Given the description of an element on the screen output the (x, y) to click on. 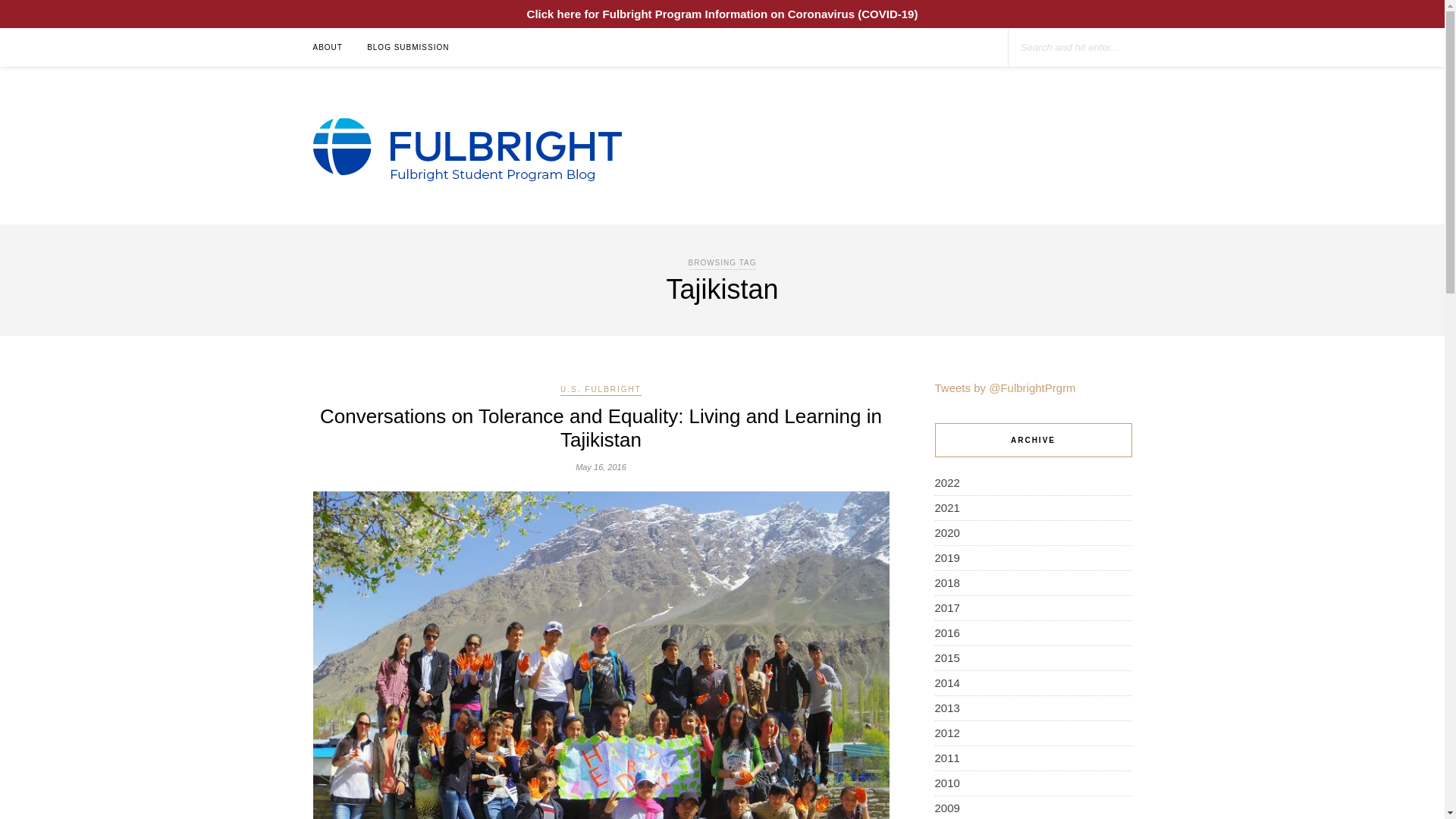
2022 (946, 481)
View all posts in U.S. Fulbright (601, 389)
U.S. FULBRIGHT (601, 389)
BLOG SUBMISSION (407, 46)
2019 (946, 557)
2018 (946, 582)
2020 (946, 532)
2021 (946, 507)
